Given the description of an element on the screen output the (x, y) to click on. 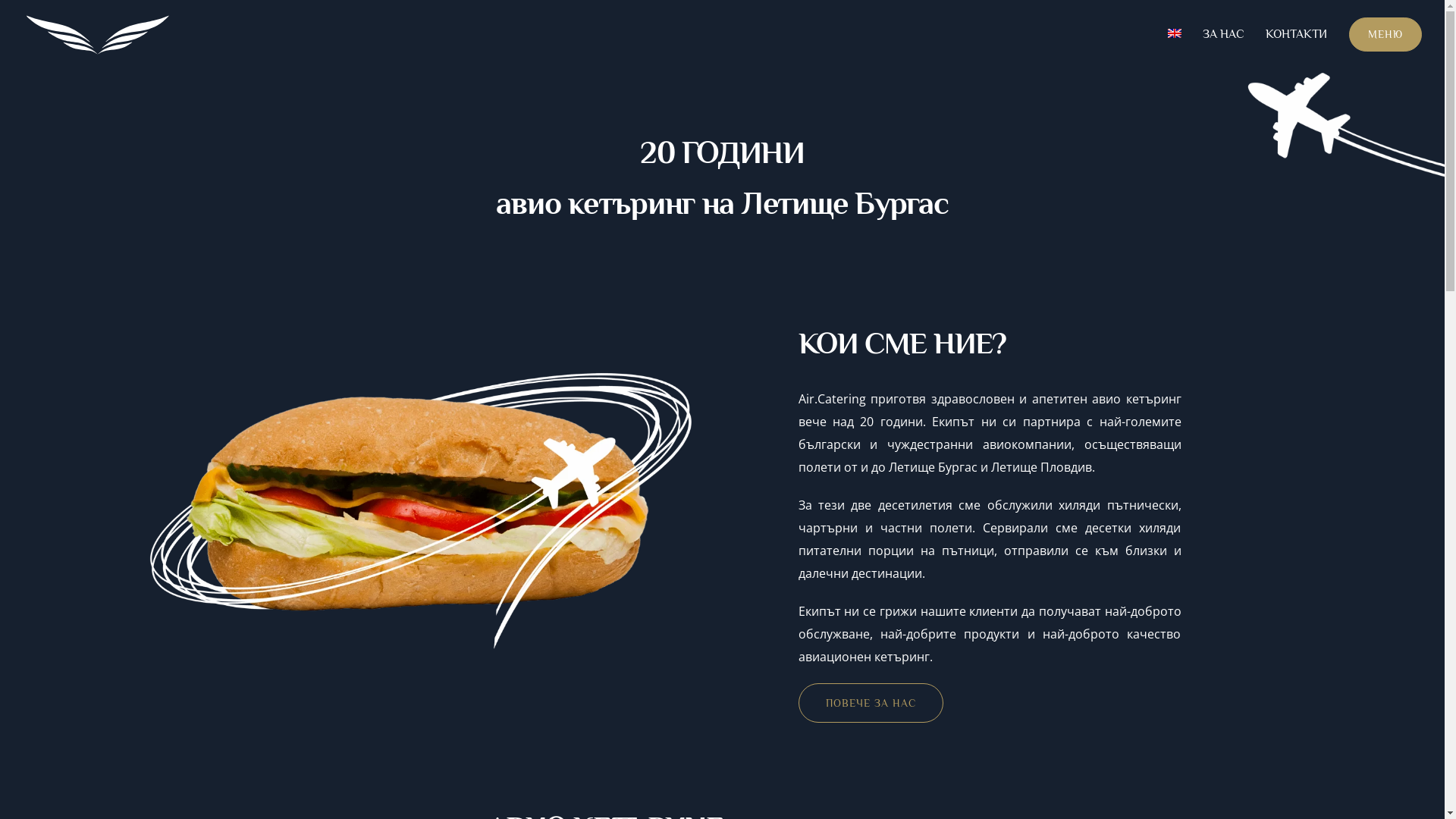
Air-catering-sandwich-2 Element type: hover (417, 501)
